Given the description of an element on the screen output the (x, y) to click on. 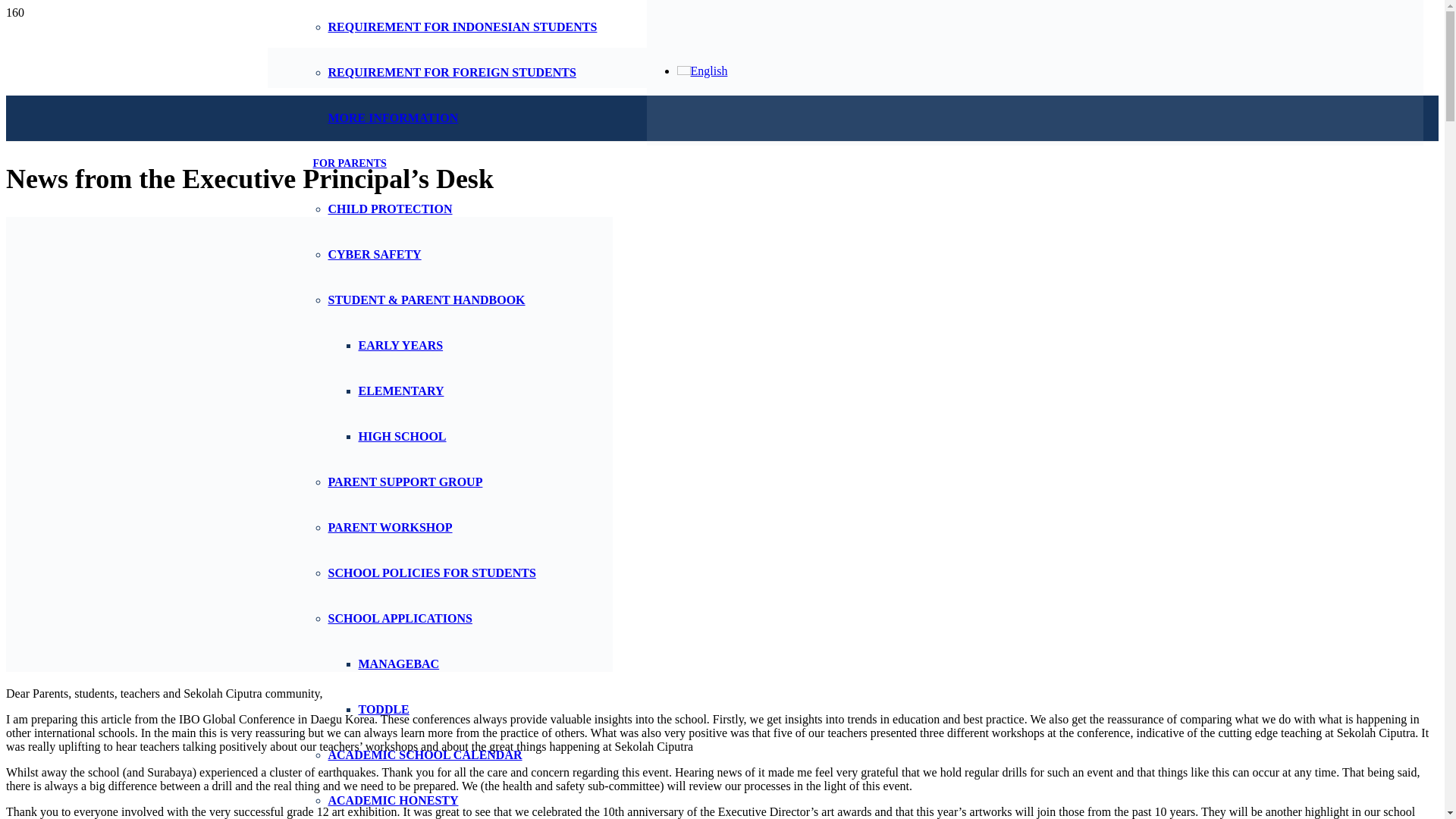
MORE INFORMATION (392, 117)
ELEMENTARY (401, 390)
EARLY YEARS (400, 345)
REQUIREMENT FOR FOREIGN STUDENTS (451, 72)
FOR PARENTS (349, 163)
HIGH SCHOOL (401, 436)
CHILD PROTECTION (389, 208)
English (701, 69)
REQUIREMENT FOR INDONESIAN STUDENTS (461, 26)
CYBER SAFETY (373, 254)
